Given the description of an element on the screen output the (x, y) to click on. 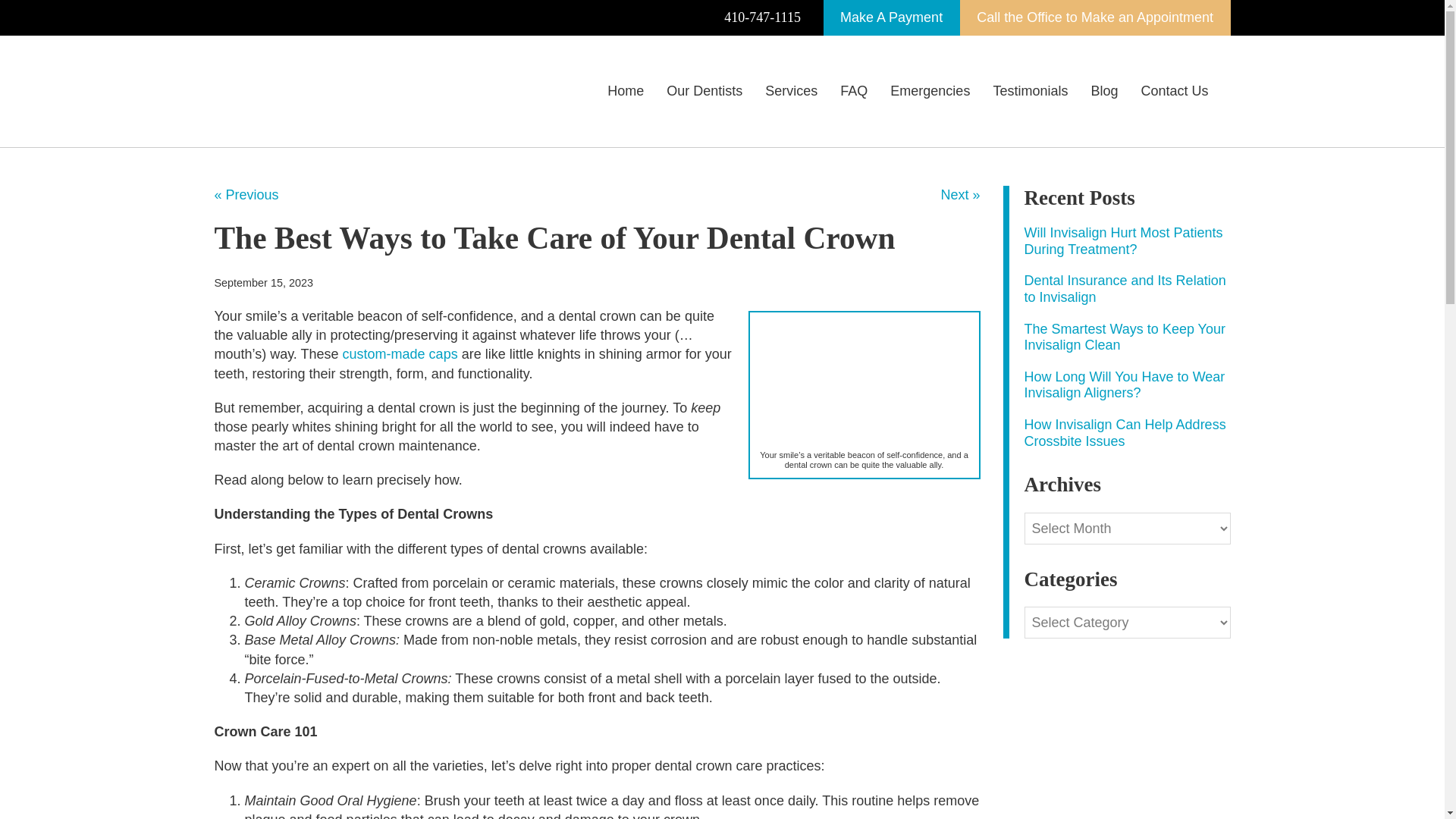
custom-made caps (400, 353)
Dental Insurance and Its Relation to Invisalign (1124, 288)
Services (791, 90)
Contact Us (1174, 90)
How Invisalign Can Help Address Crossbite Issues (1124, 432)
Blog (1103, 90)
How Long Will You Have to Wear Invisalign Aligners? (1123, 385)
Make A Payment (891, 18)
Our Dentists (704, 90)
Will Invisalign Hurt Most Patients During Treatment? (1123, 241)
